Given the description of an element on the screen output the (x, y) to click on. 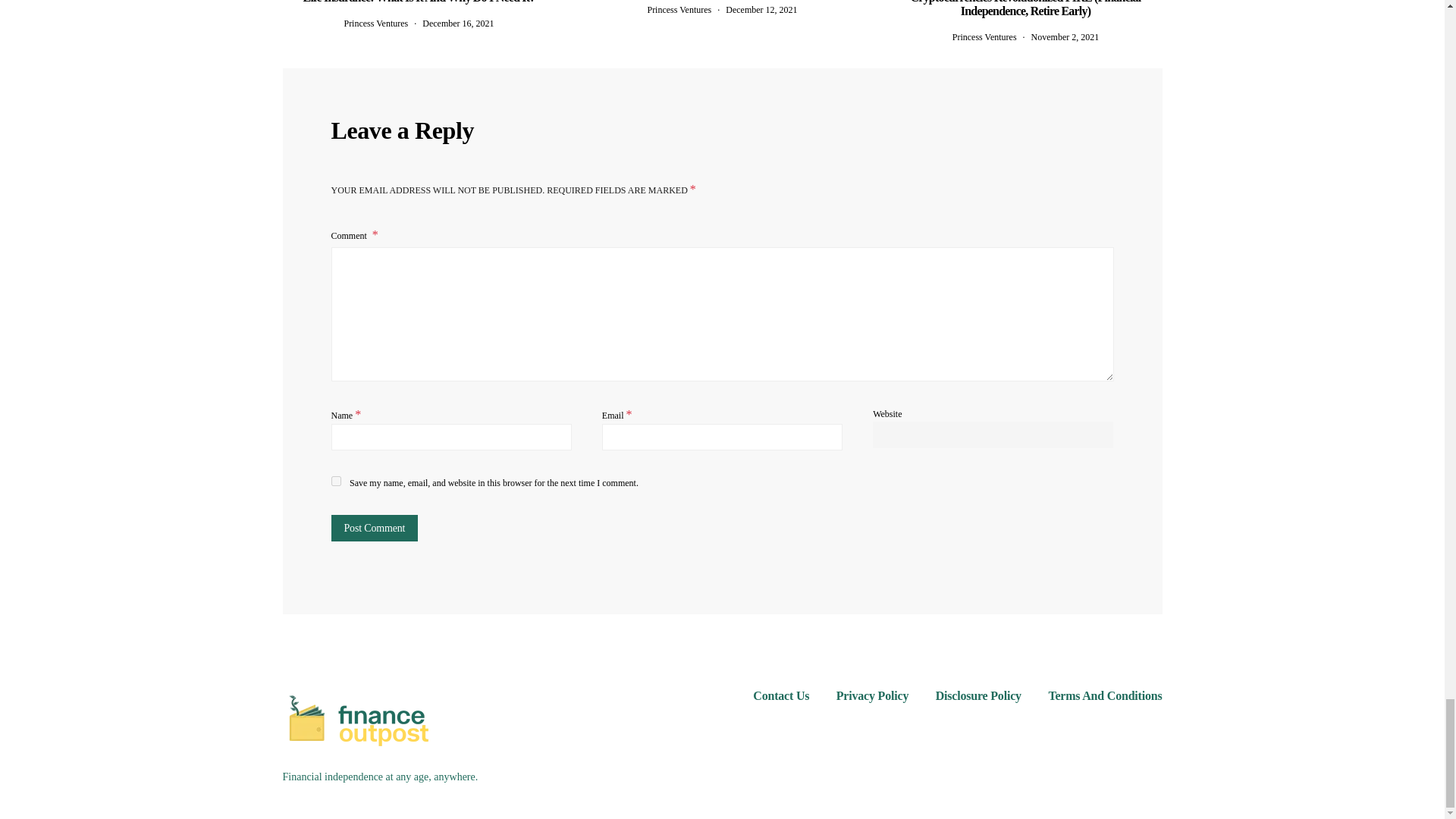
yes (335, 480)
View all posts by Princess Ventures (375, 23)
View all posts by Princess Ventures (984, 36)
Post Comment (373, 528)
View all posts by Princess Ventures (678, 9)
